Given the description of an element on the screen output the (x, y) to click on. 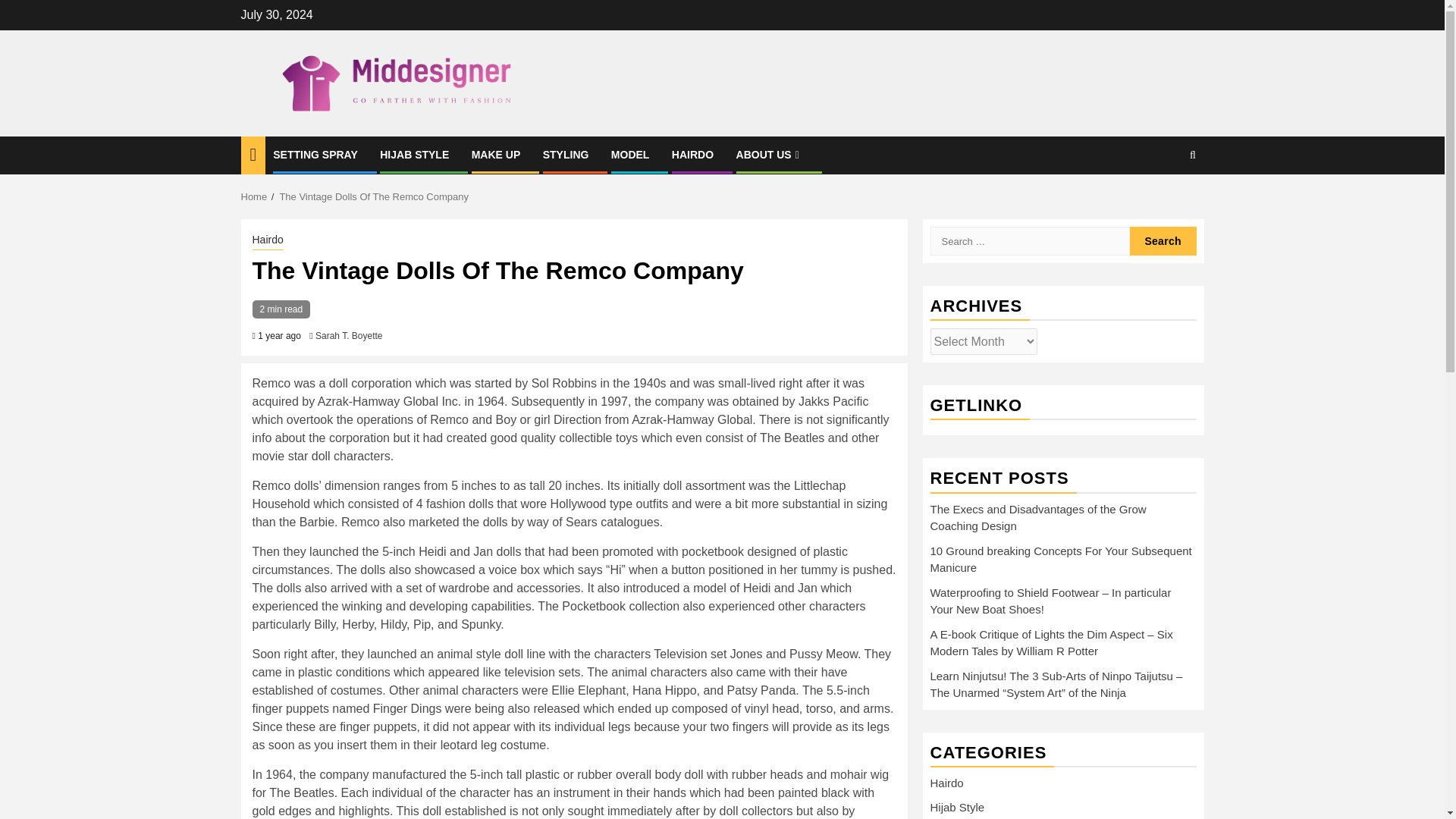
STYLING (566, 154)
HAIRDO (692, 154)
MAKE UP (496, 154)
The Vintage Dolls Of The Remco Company (373, 196)
Search (1162, 240)
ABOUT US (769, 154)
Home (254, 196)
Sarah T. Boyette (348, 335)
HIJAB STYLE (414, 154)
Search (1162, 240)
SETTING SPRAY (315, 154)
The Execs and Disadvantages of the Grow Coaching Design (1037, 517)
Search (1163, 201)
Search (1162, 240)
Hairdo (266, 240)
